Given the description of an element on the screen output the (x, y) to click on. 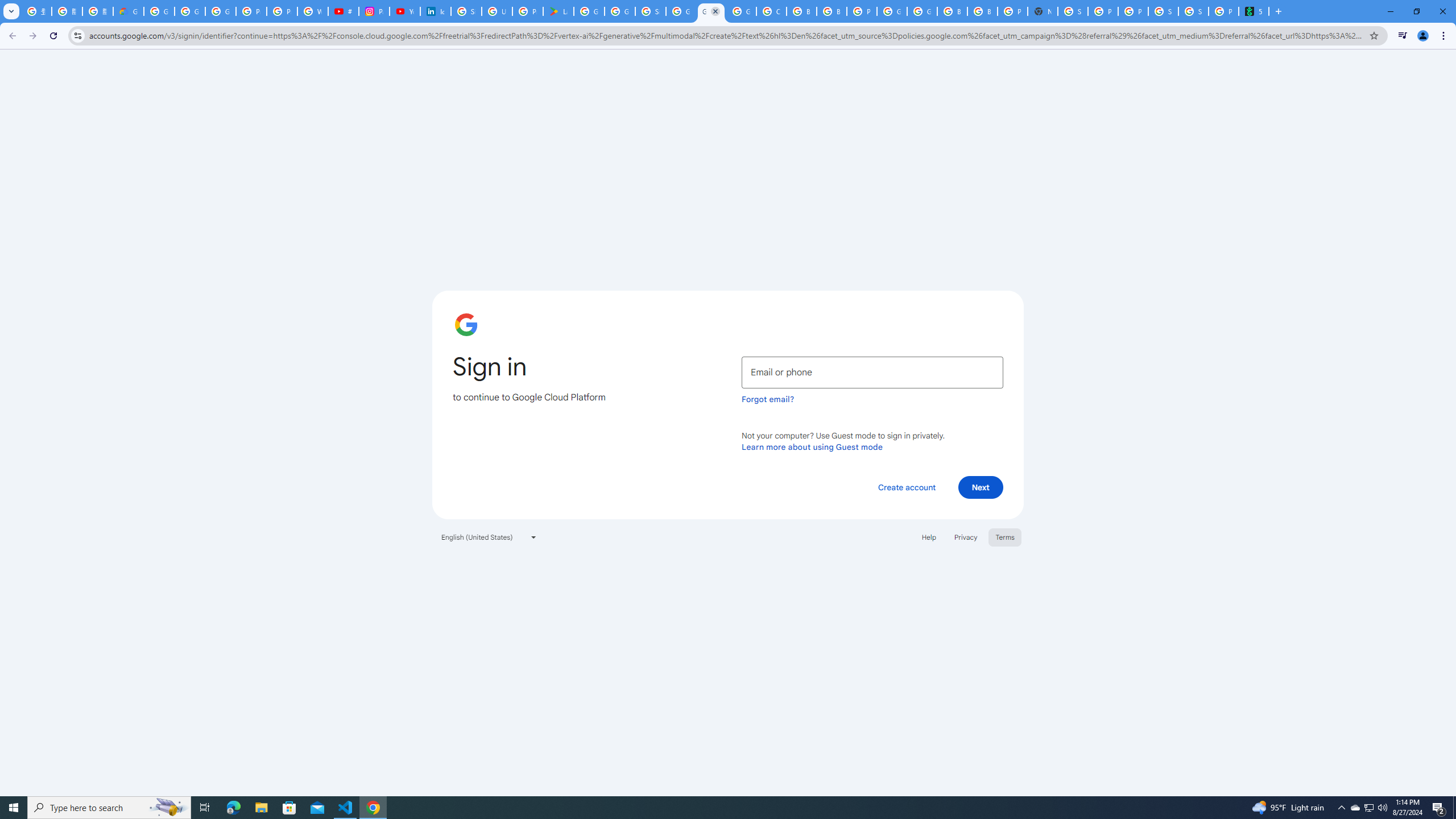
Sign in - Google Accounts (650, 11)
Learn more about using Guest mode (812, 446)
New Tab (1042, 11)
